Given the description of an element on the screen output the (x, y) to click on. 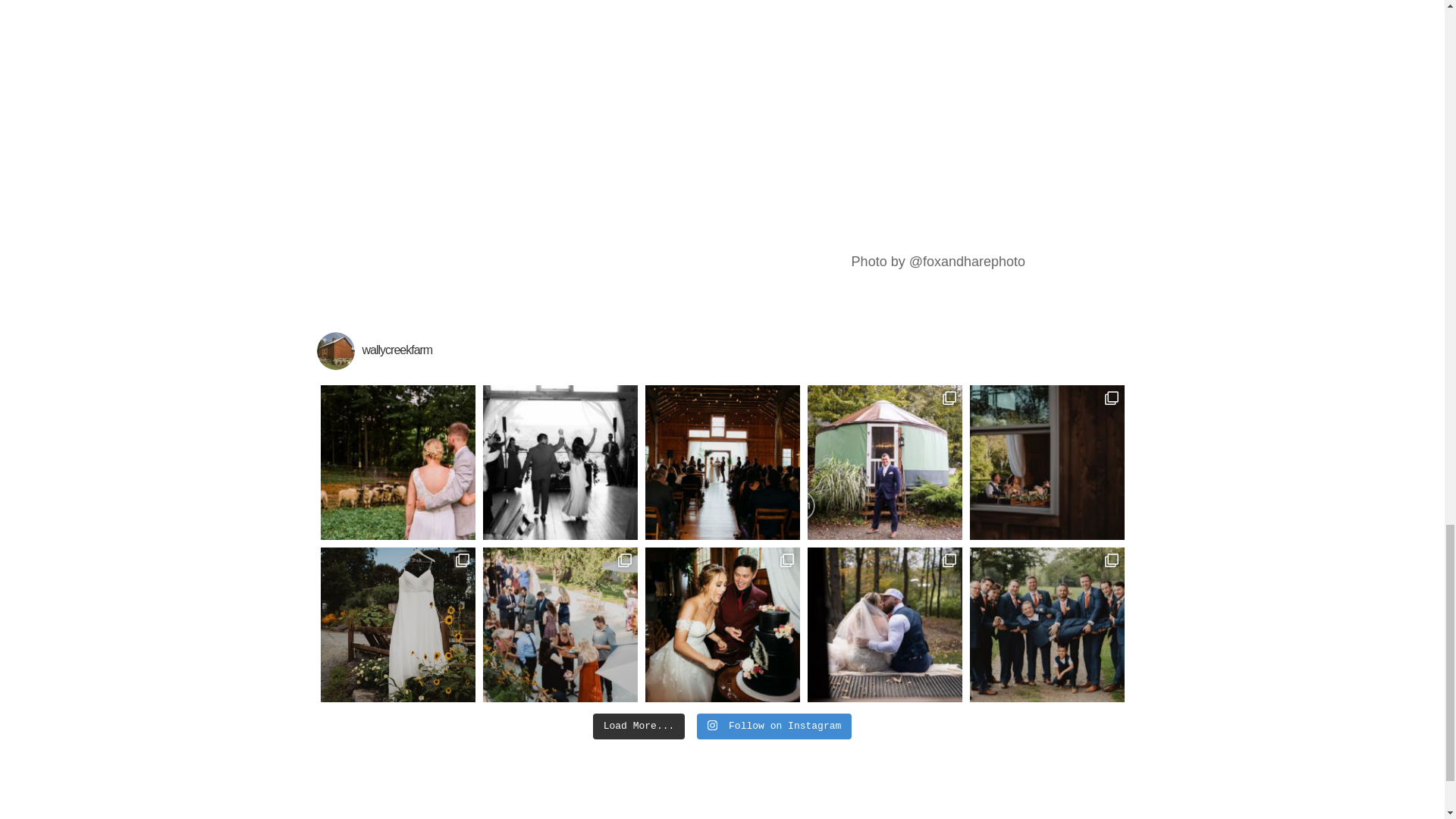
wallycreekfarm (722, 351)
